Given the description of an element on the screen output the (x, y) to click on. 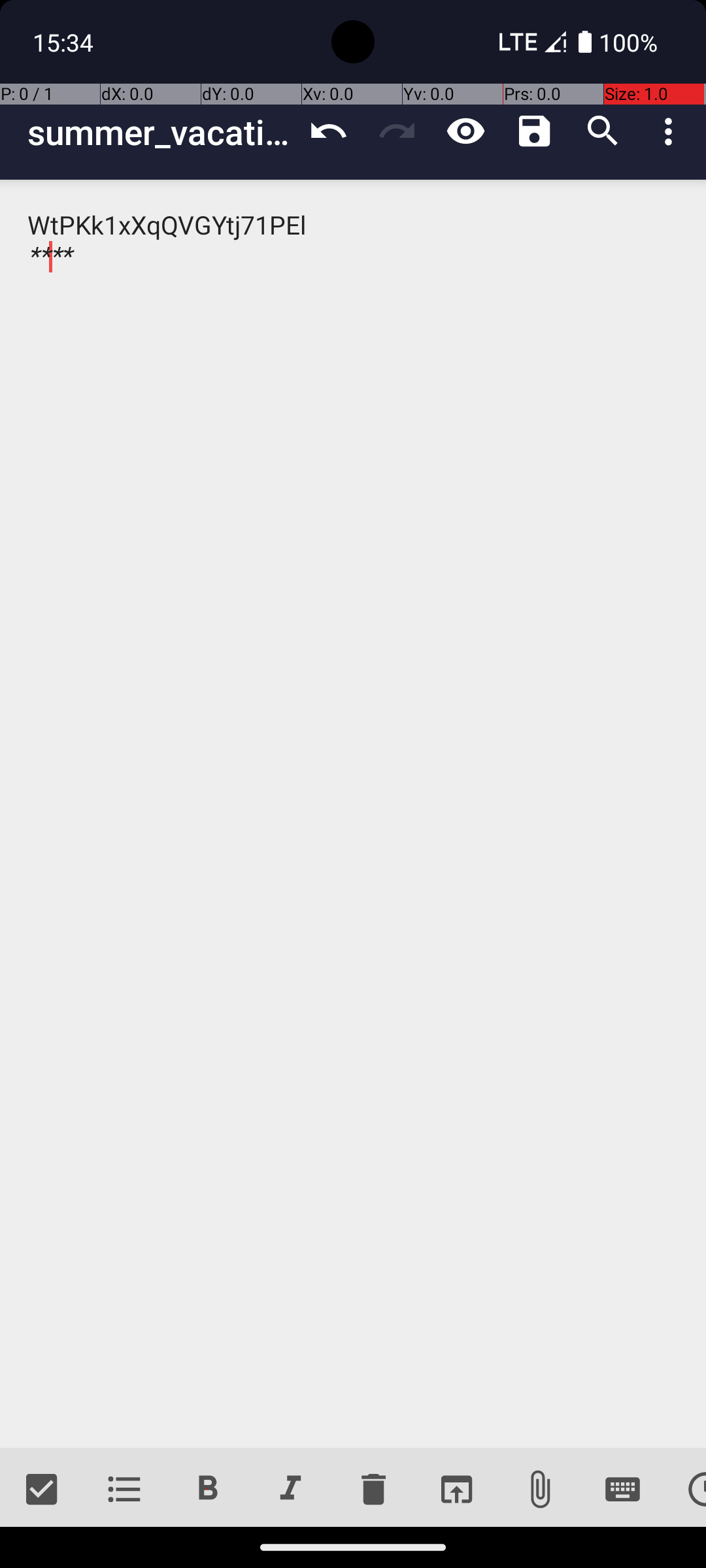
summer_vacation_plans_ZDk8 Element type: android.widget.TextView (160, 131)
WtPKk1xXqQVGYtj71PEl
**** Element type: android.widget.EditText (353, 813)
